Given the description of an element on the screen output the (x, y) to click on. 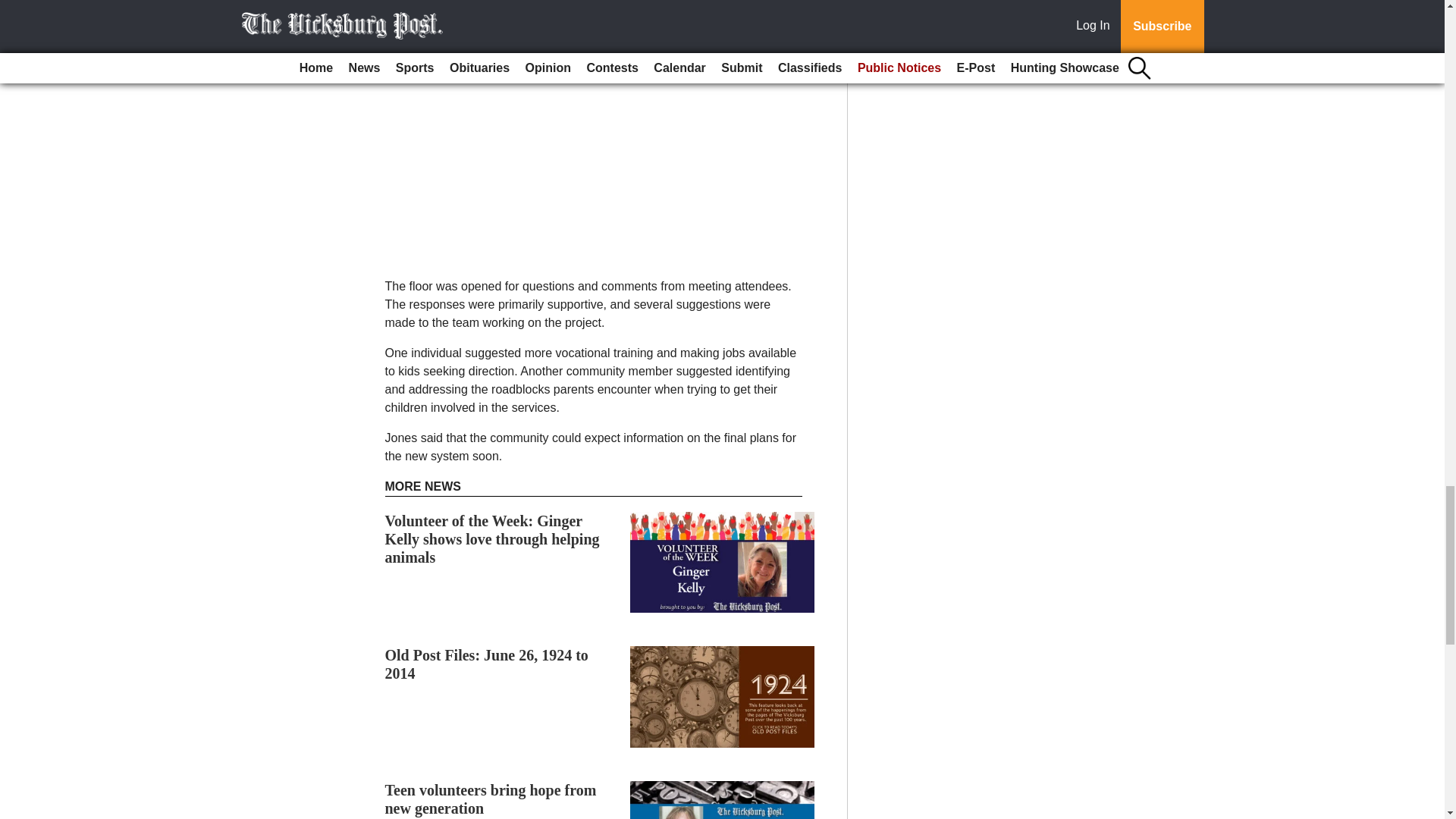
Old Post Files: June 26, 1924 to 2014 (486, 664)
Teen volunteers bring hope from new generation (490, 799)
Old Post Files: June 26, 1924 to 2014 (486, 664)
Teen volunteers bring hope from new generation (490, 799)
